Given the description of an element on the screen output the (x, y) to click on. 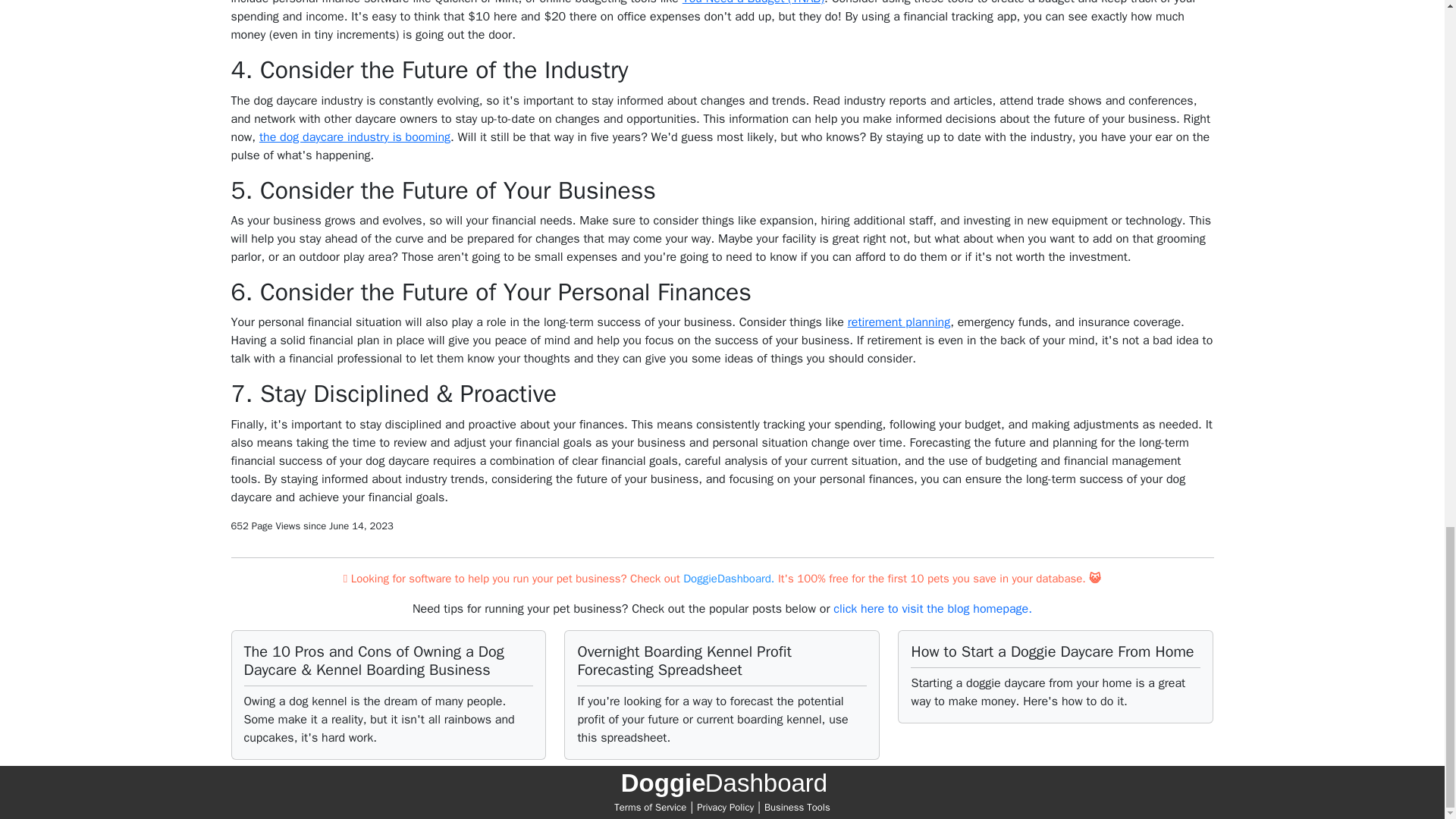
Doggie Dashboard (722, 787)
the dog daycare industry is booming (354, 136)
Terms of Service (649, 807)
Business Tools (796, 807)
retirement planning (898, 322)
click here to visit the blog homepage. (932, 608)
Privacy Policy (725, 807)
